Given the description of an element on the screen output the (x, y) to click on. 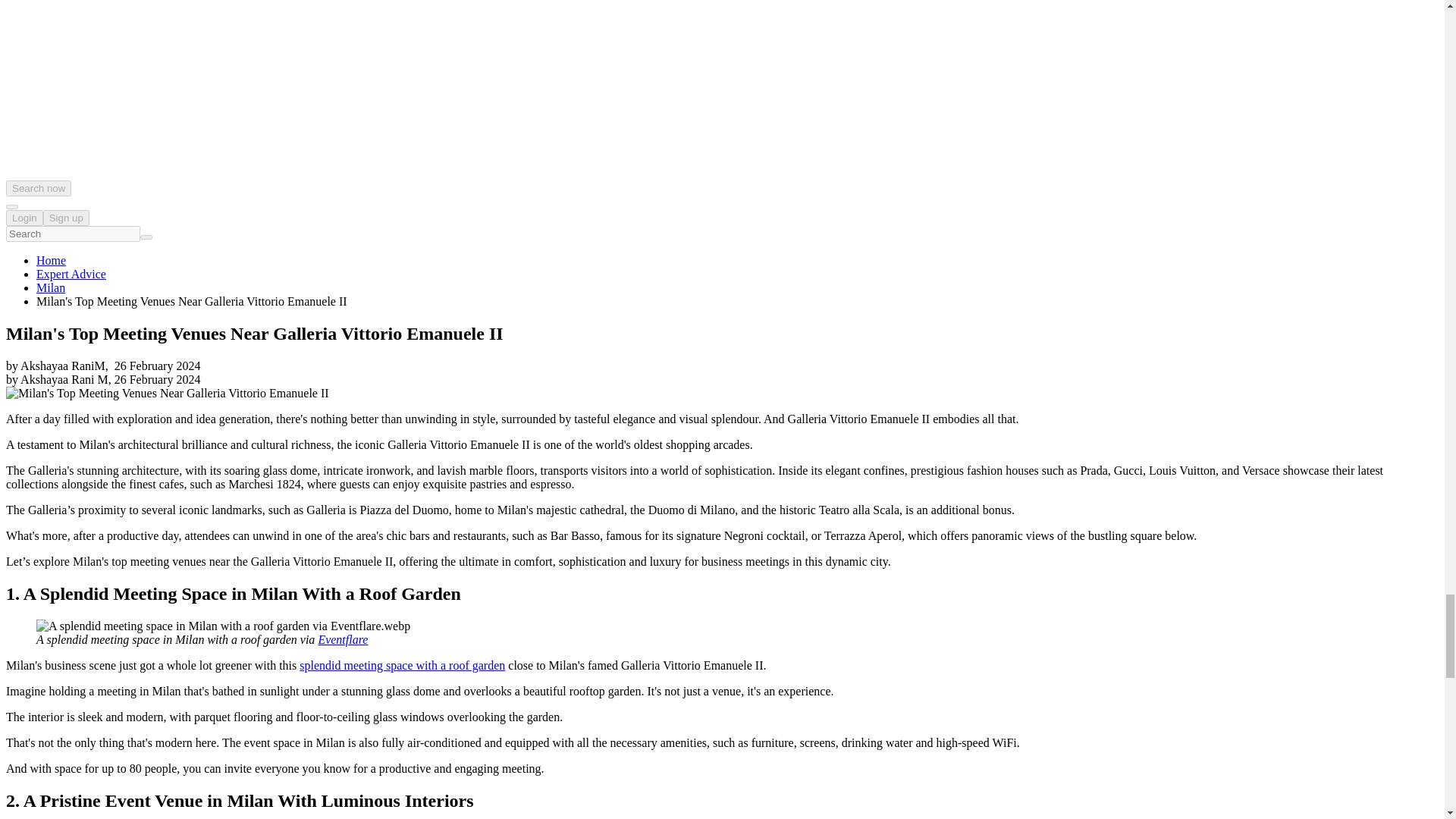
Home (50, 259)
Sign up (65, 217)
Eventflare (342, 639)
Milan (50, 287)
splendid meeting space with a roof garden (402, 665)
Expert Advice (71, 273)
Search now (38, 188)
Login (24, 217)
